Given the description of an element on the screen output the (x, y) to click on. 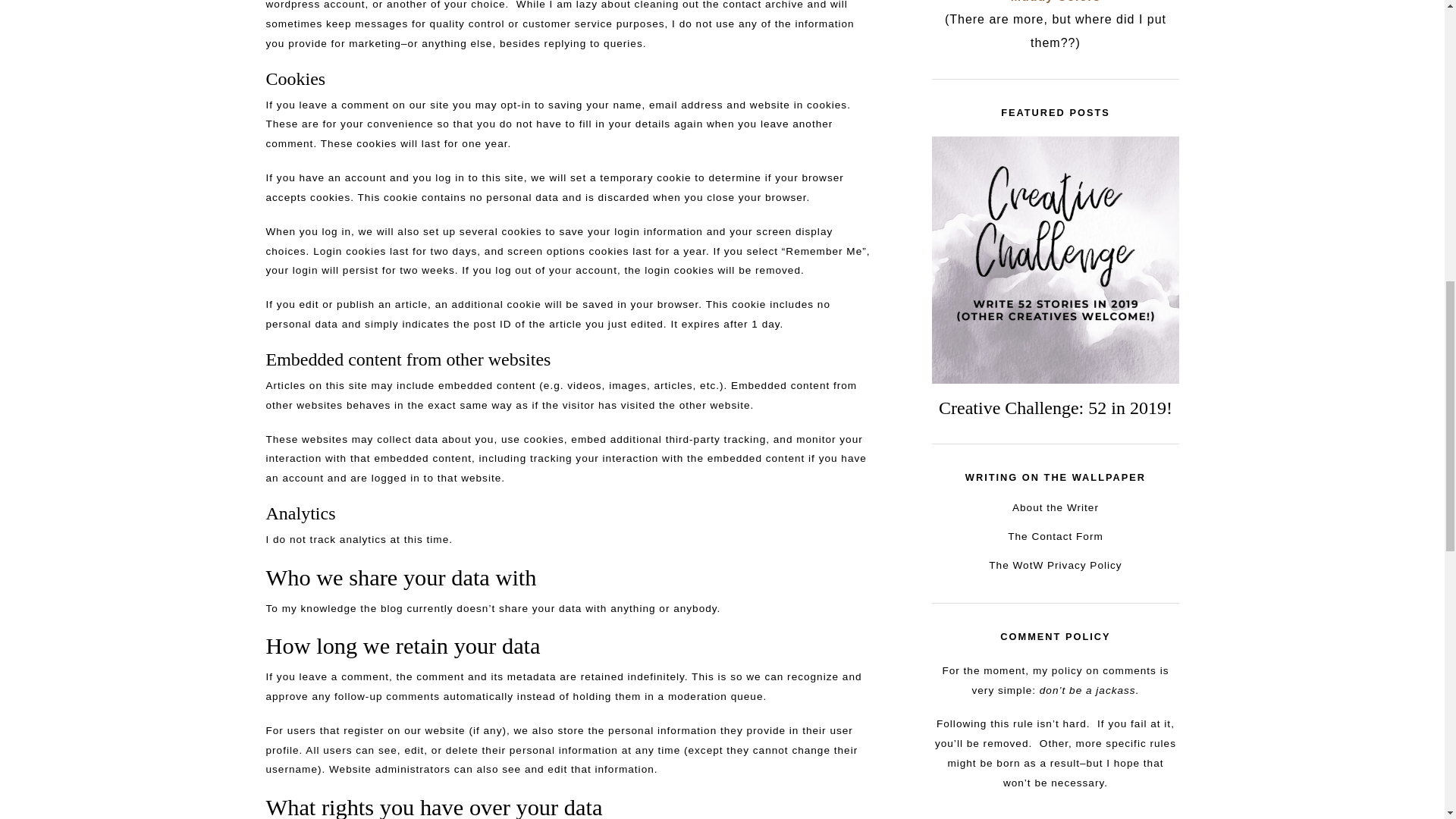
Creative Challenge: 52 in 2019! (1055, 407)
Muddy Colors (1055, 1)
The WotW Privacy Policy (1054, 564)
About the Writer (1055, 507)
The Contact Form (1055, 536)
